Given the description of an element on the screen output the (x, y) to click on. 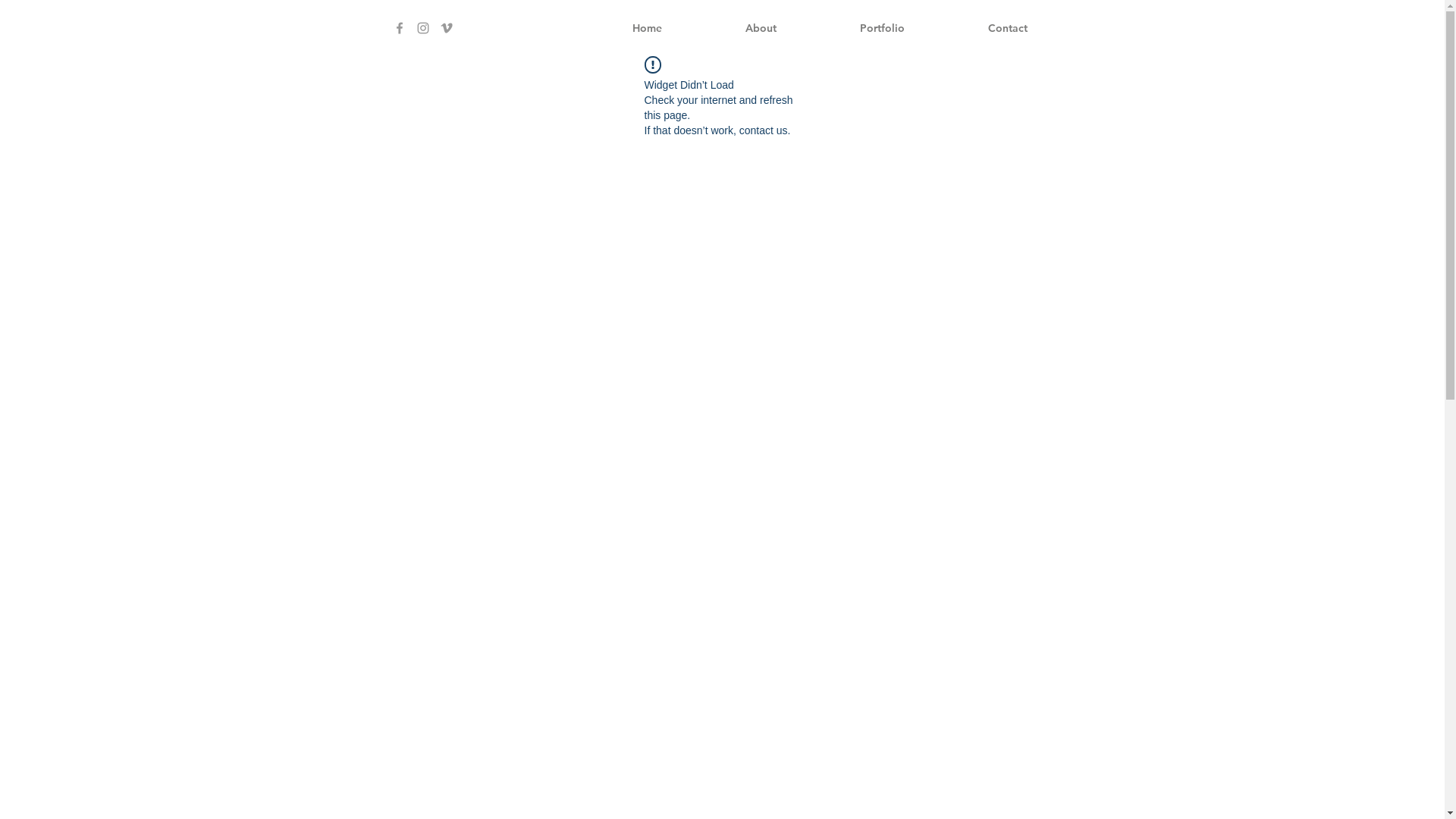
Home Element type: text (645, 28)
Portfolio Element type: text (881, 28)
Contact Element type: text (1007, 28)
About Element type: text (760, 28)
